Given the description of an element on the screen output the (x, y) to click on. 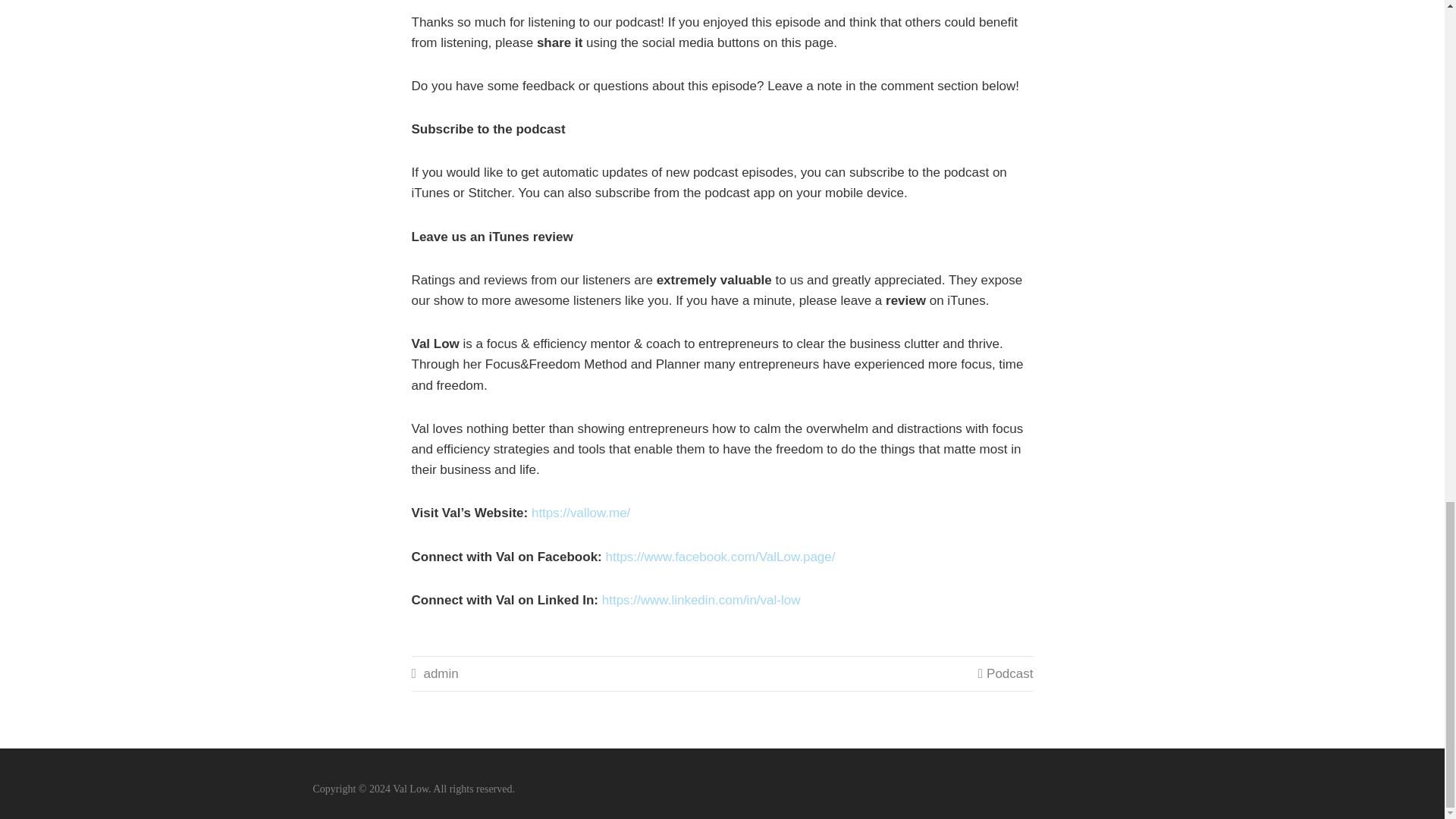
admin (440, 673)
Podcast (1009, 673)
